Given the description of an element on the screen output the (x, y) to click on. 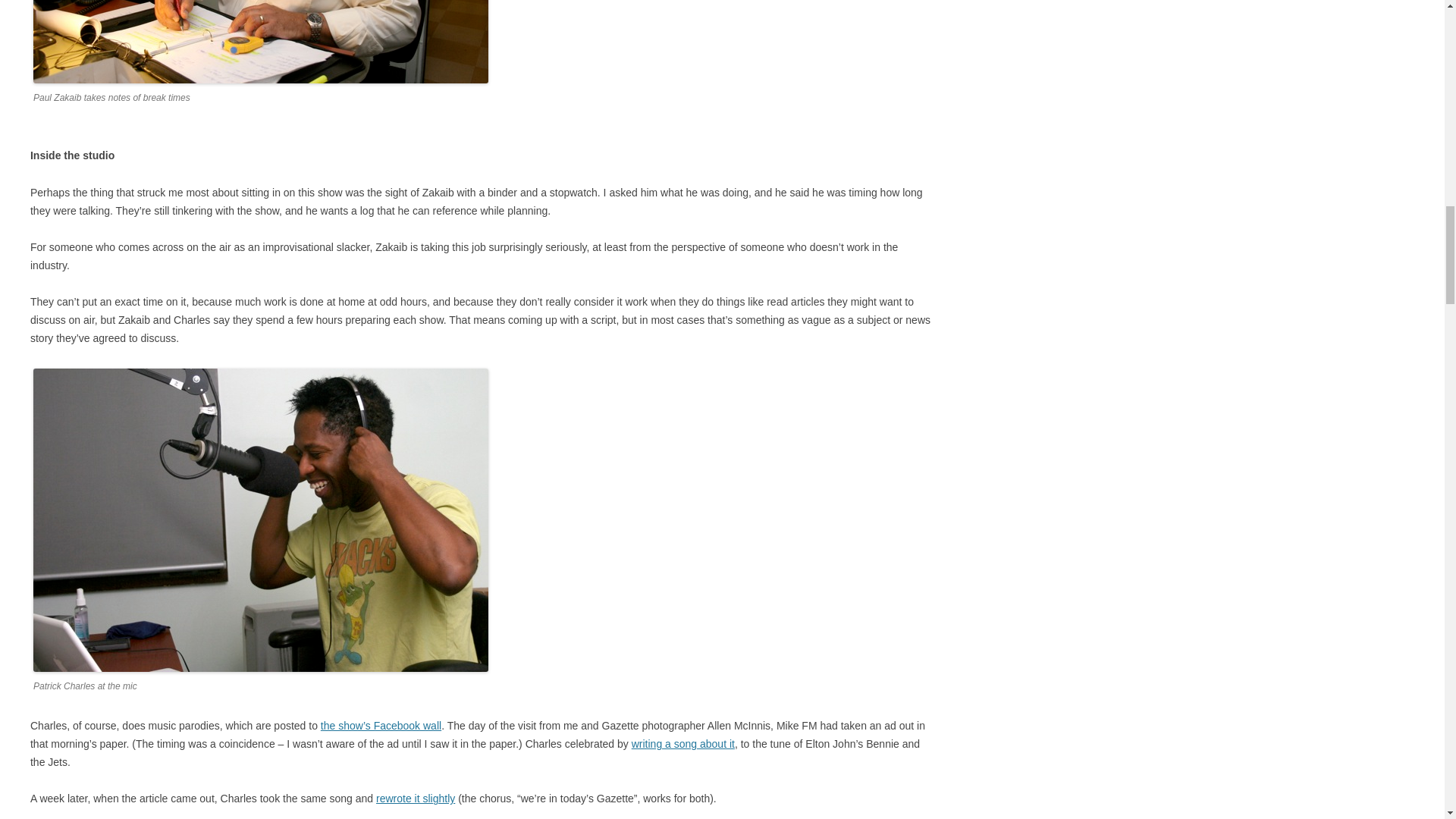
rewrote it slightly (414, 798)
Tasso's notes (260, 41)
writing a song about it (683, 743)
